Given the description of an element on the screen output the (x, y) to click on. 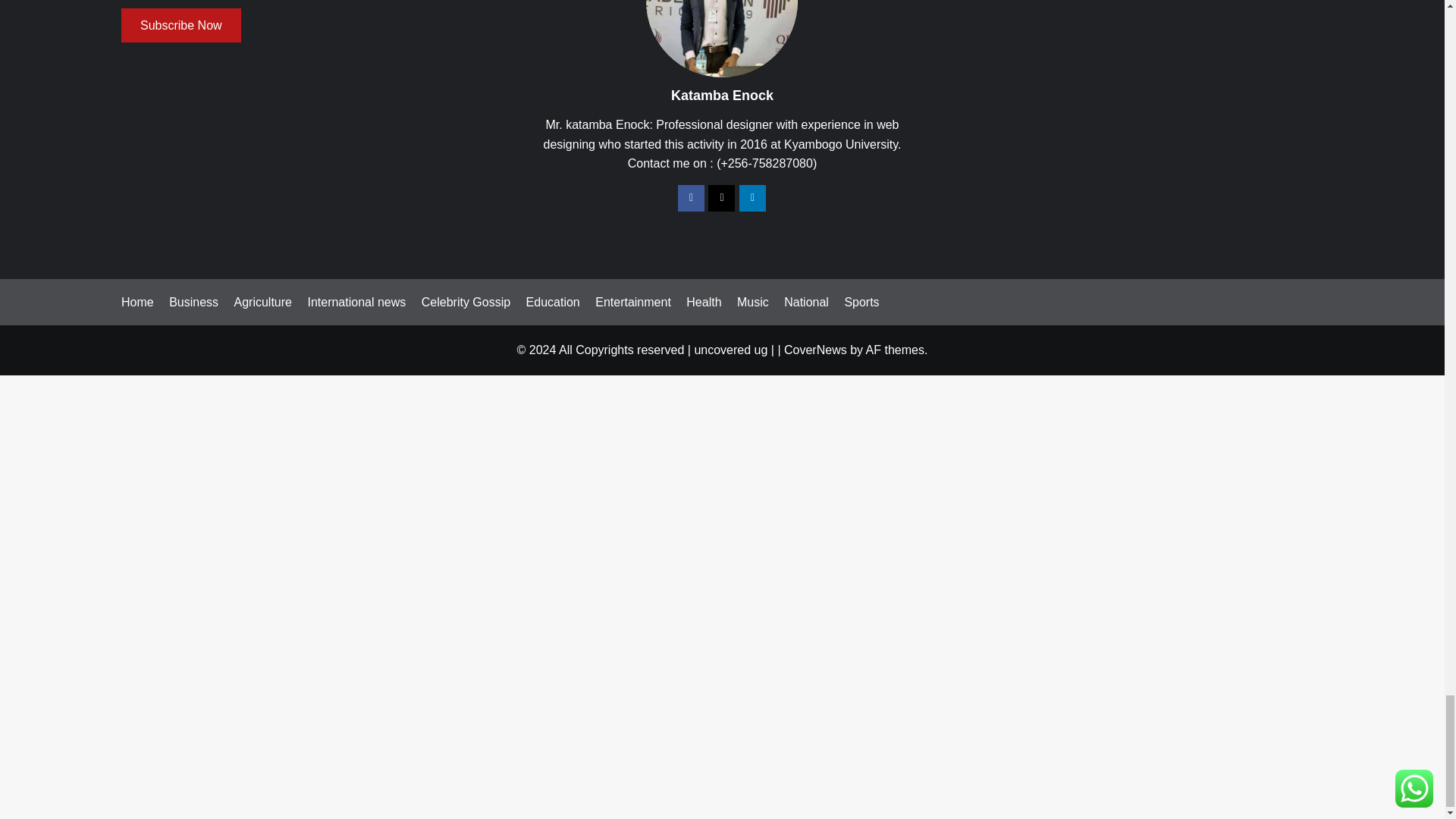
Subscribe Now (180, 25)
